Given the description of an element on the screen output the (x, y) to click on. 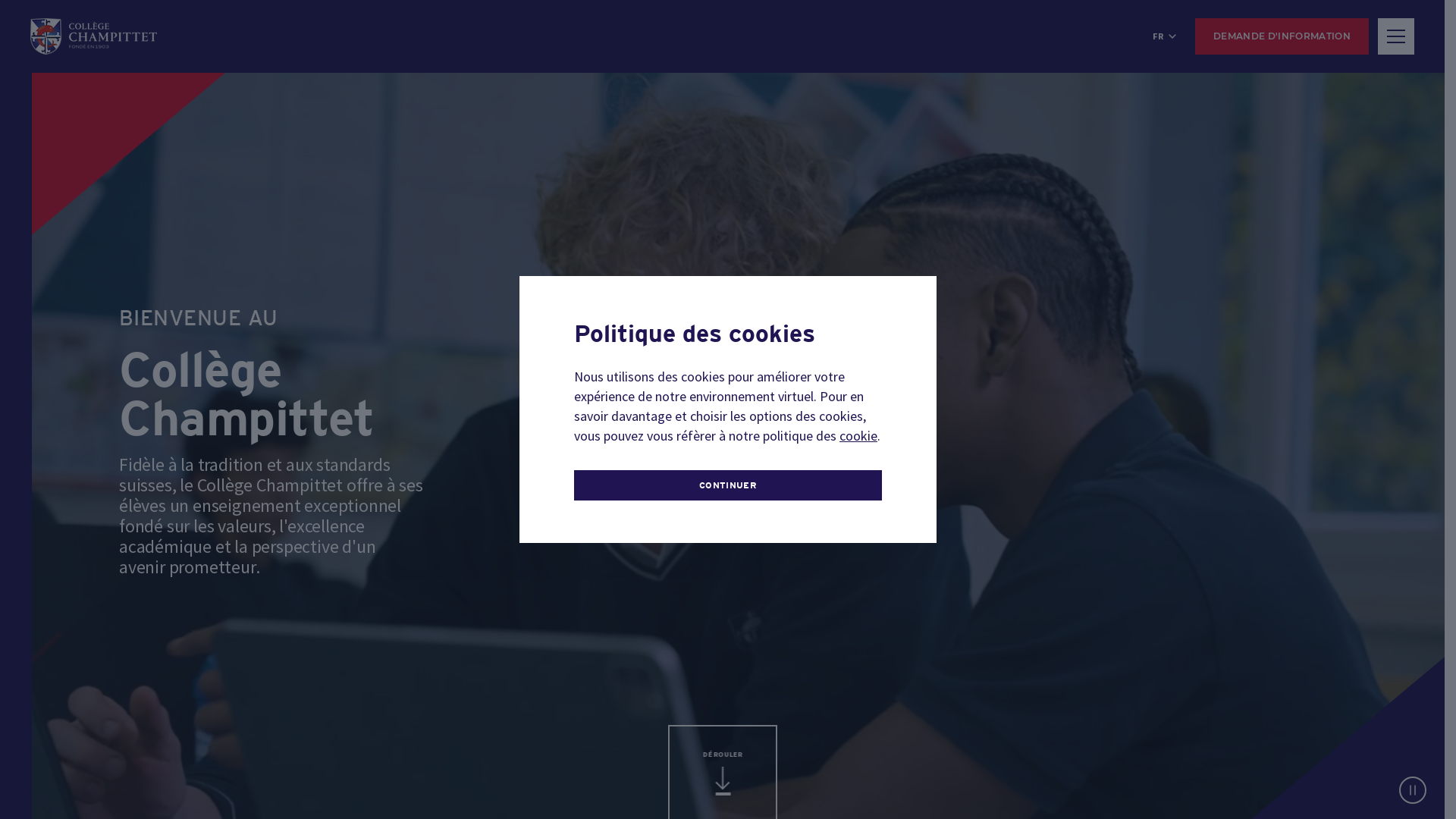
cookie Element type: text (858, 435)
CONTINUER Element type: text (727, 485)
DEMANDE D'INFORMATION Element type: text (1281, 36)
FR Element type: text (1164, 36)
